Given the description of an element on the screen output the (x, y) to click on. 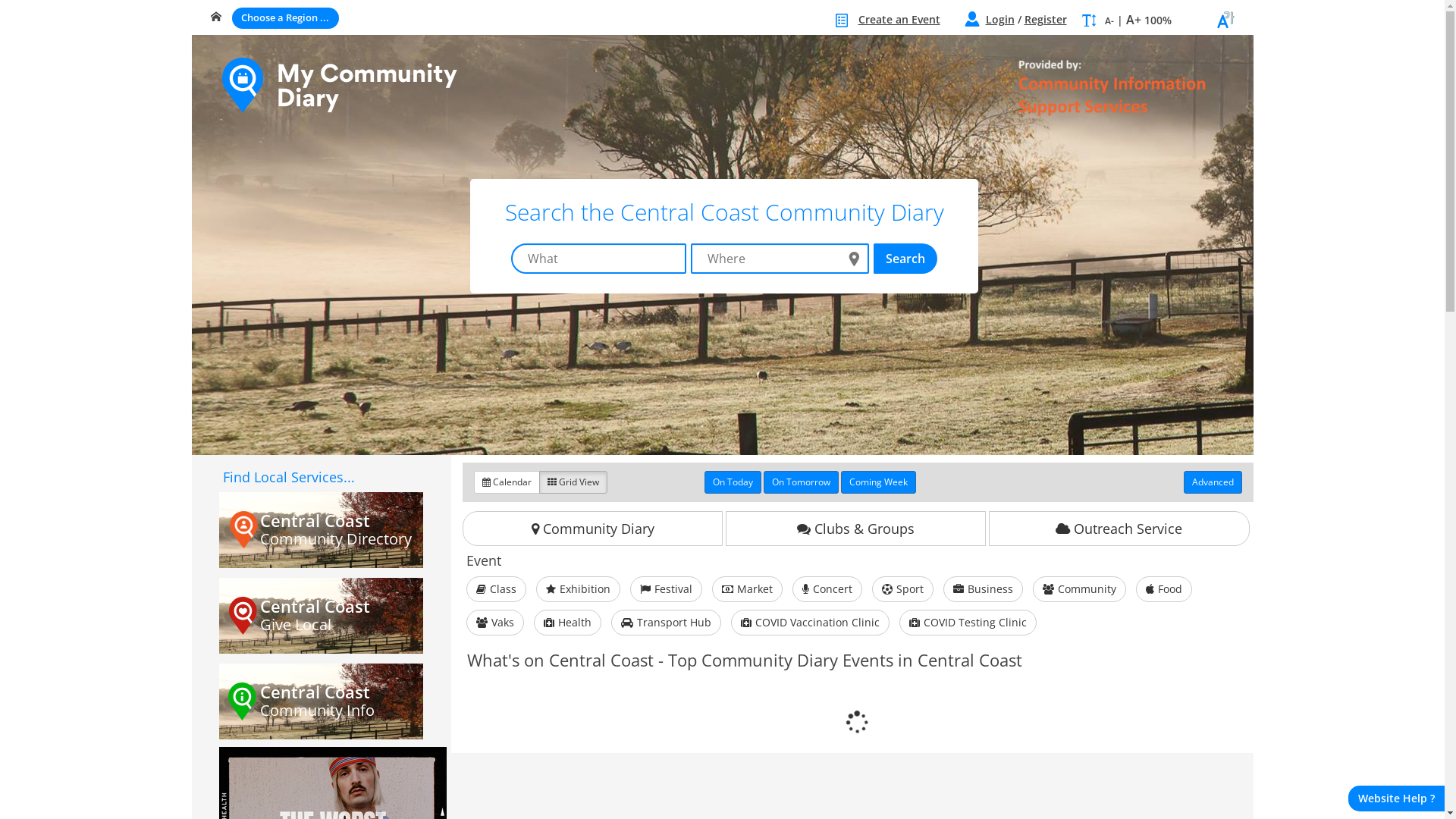
Market Element type: text (747, 589)
Vaks Element type: text (495, 622)
Grid View Element type: text (573, 481)
Central Coast
Community Info Element type: text (321, 701)
On Today Element type: text (732, 481)
Community Diary Element type: text (592, 528)
100% Element type: text (1156, 19)
On Tomorrow Element type: text (800, 481)
Proudly supported by Community Information Support Services Element type: text (1089, 87)
Festival Element type: text (666, 589)
Website Help ? Element type: text (1396, 798)
Outreach Service Element type: text (1118, 528)
Business Element type: text (982, 589)
Concert Element type: text (827, 589)
Clubs & Groups Element type: text (855, 528)
A+ Element type: text (1132, 19)
A- Element type: text (1108, 20)
Register Element type: text (1044, 19)
COVID Testing Clinic Element type: text (967, 622)
Food Element type: text (1163, 589)
Share this page Element type: hover (1224, 26)
COVID Vaccination Clinic Element type: text (810, 622)
Choose a Region ... Element type: text (285, 17)
Sport Element type: text (902, 589)
Central Coast
Community Directory Element type: text (321, 529)
Advanced Element type: text (1212, 481)
Exhibition Element type: text (578, 589)
Create an Event Element type: text (899, 19)
Central Coast
Give Local Element type: text (321, 615)
Calendar Element type: text (506, 481)
Transport Hub Element type: text (666, 622)
Login Element type: text (999, 19)
Class Element type: text (496, 589)
Coming Week Element type: text (878, 481)
Health Element type: text (567, 622)
Search Element type: text (905, 258)
My Community Diary Element type: text (338, 85)
Community Element type: text (1079, 589)
